Given the description of an element on the screen output the (x, y) to click on. 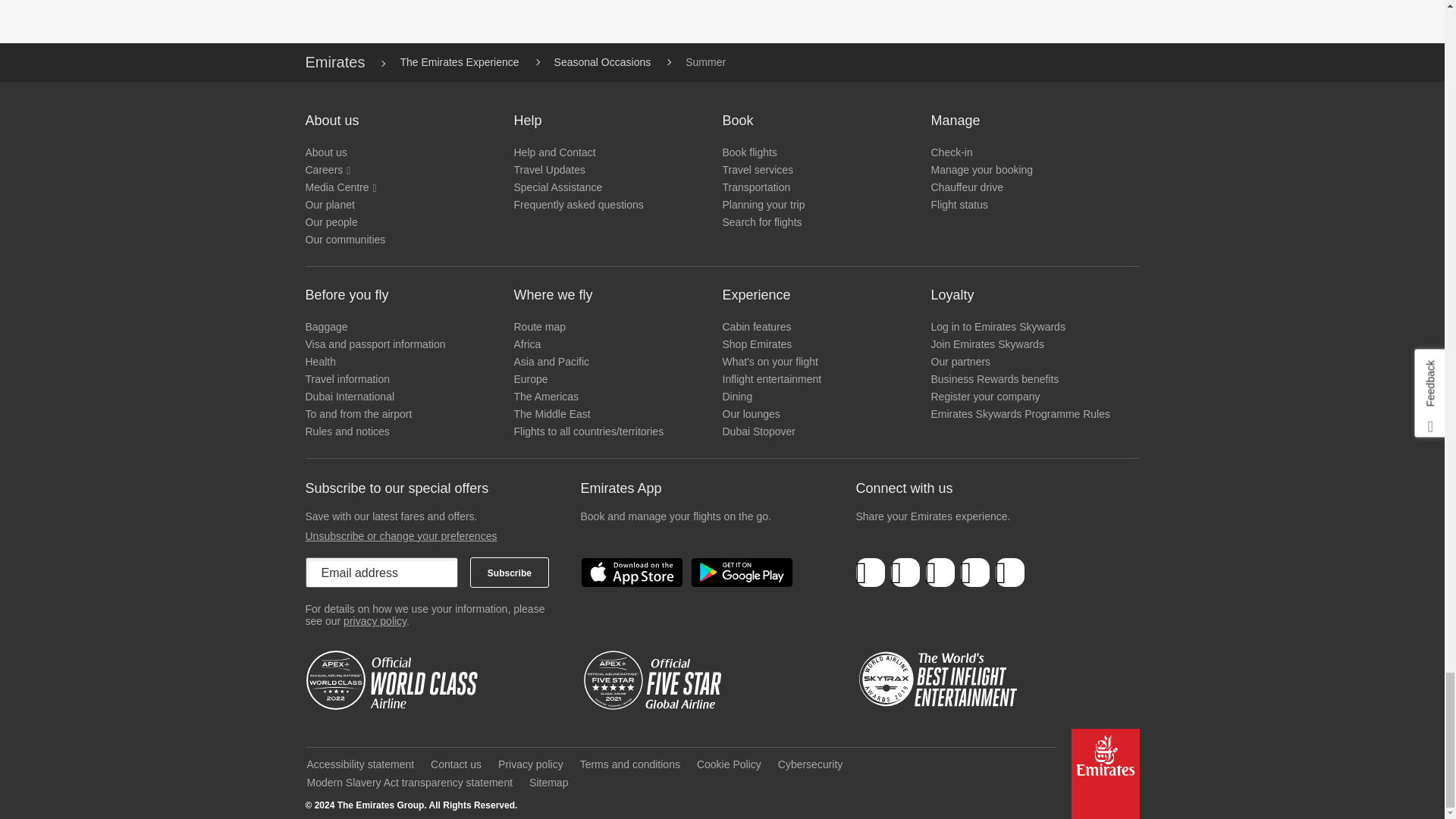
Youtube (974, 572)
Instagram (1009, 572)
privacy policy (374, 621)
X-social (904, 572)
World Class Airline APEX Official Airline Ratings (395, 680)
Facebook (870, 572)
LinkedIn (939, 572)
Unsubscribe or change your preferences (400, 535)
